Given the description of an element on the screen output the (x, y) to click on. 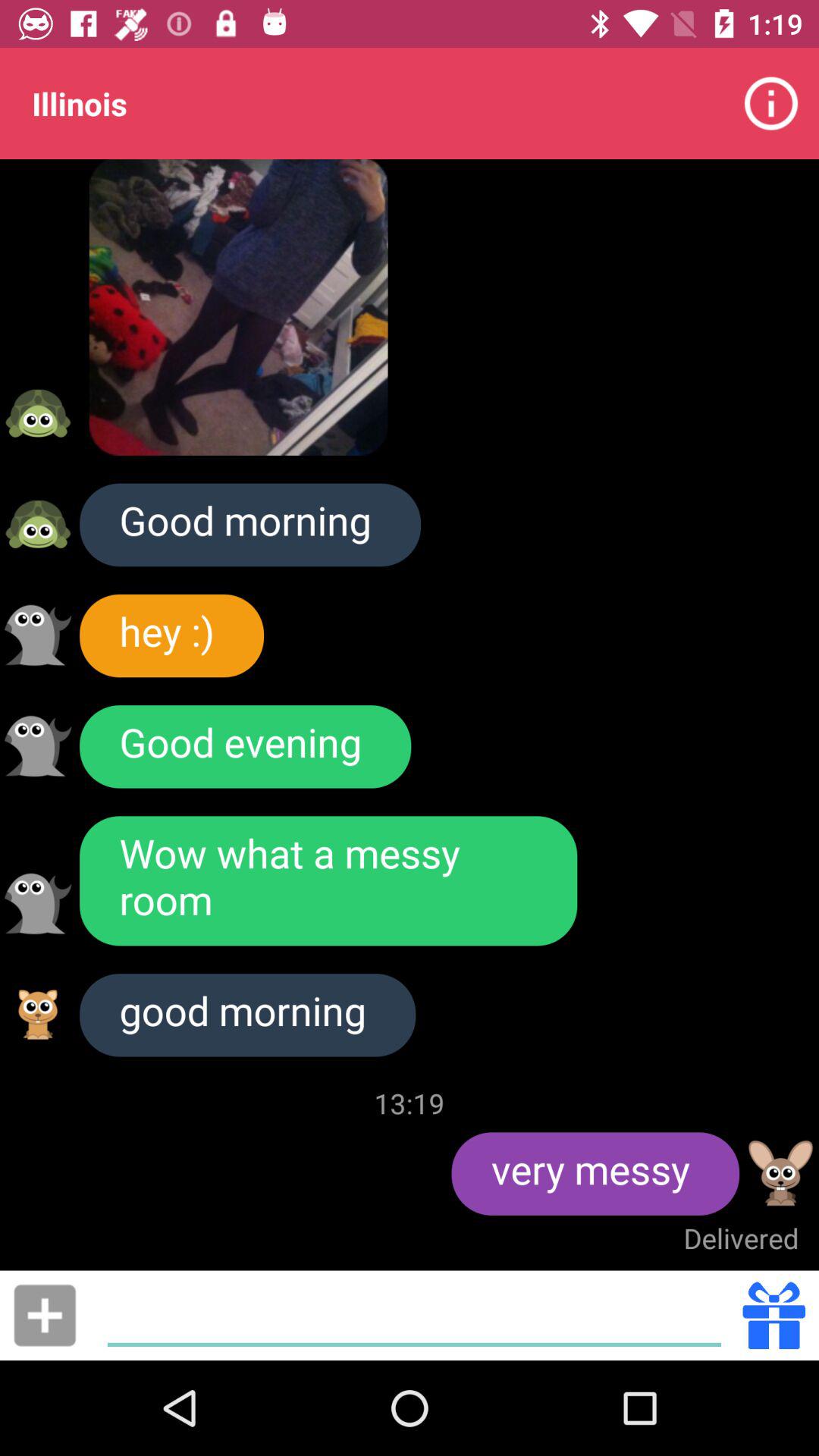
turn off item to the left of the very messy (409, 1103)
